Given the description of an element on the screen output the (x, y) to click on. 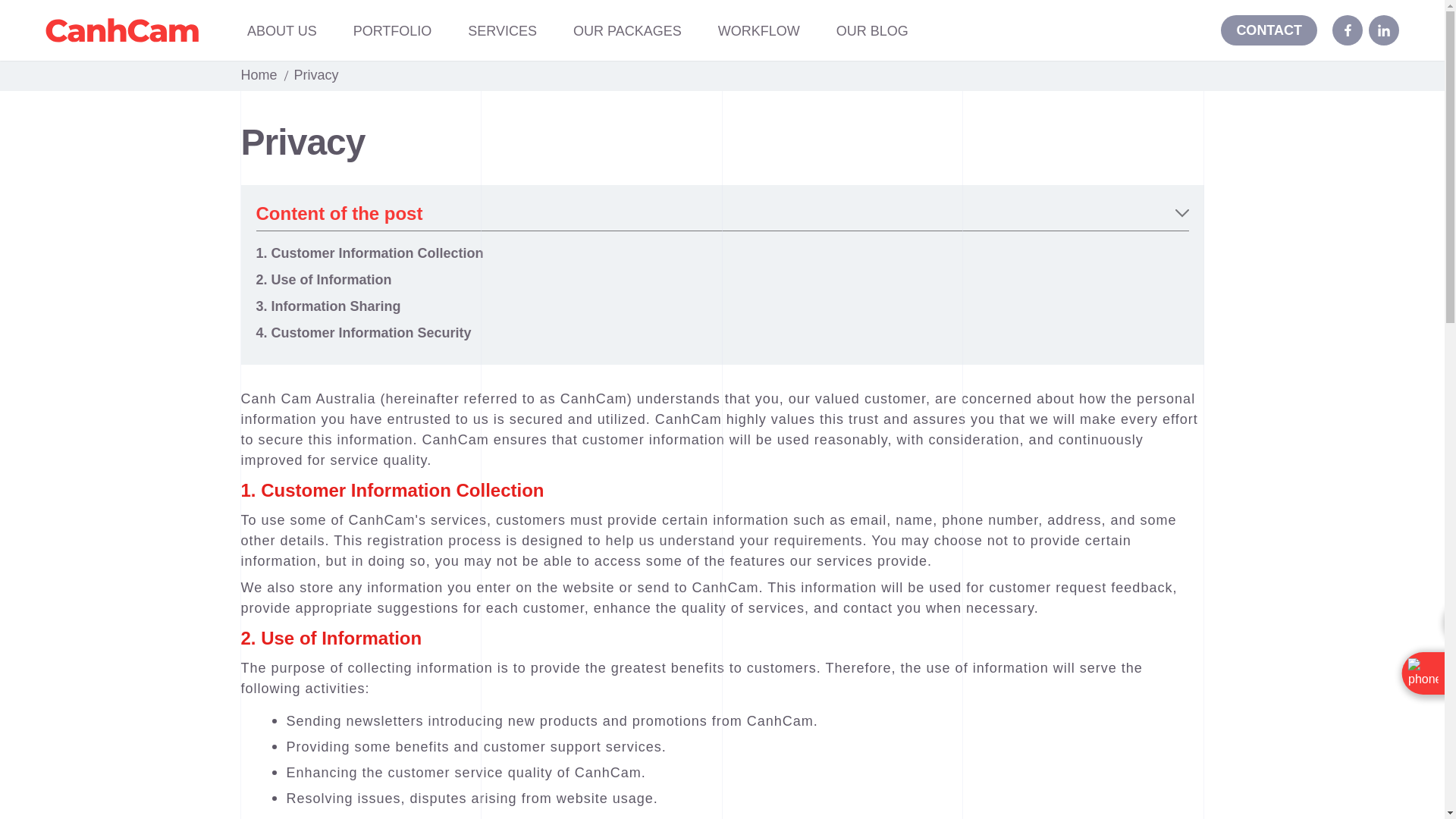
OUR PACKAGES (627, 31)
1. Customer Information Collection (369, 253)
PORTFOLIO (392, 31)
Privacy (316, 74)
CONTACT (1269, 30)
OUR BLOG (871, 31)
3. Information Sharing (328, 305)
SERVICES (502, 31)
WORKFLOW (758, 31)
Home (259, 74)
